Given the description of an element on the screen output the (x, y) to click on. 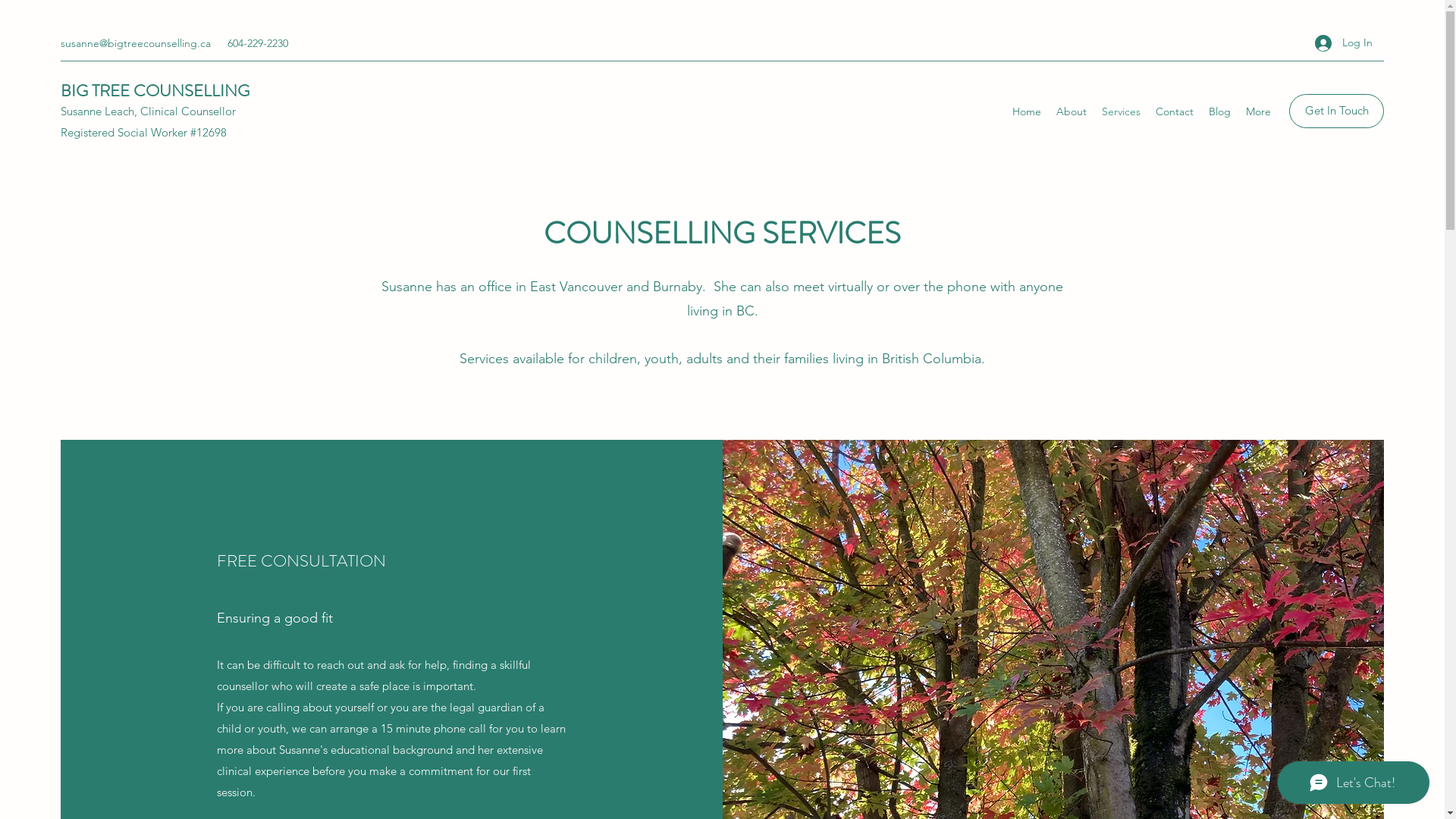
Get In Touch Element type: text (1336, 111)
susanne@bigtreecounselling.ca Element type: text (135, 43)
Blog Element type: text (1219, 111)
Log In Element type: text (1343, 42)
Home Element type: text (1026, 111)
About Element type: text (1071, 111)
Services Element type: text (1121, 111)
Contact Element type: text (1174, 111)
BIG TREE COUNSELLING Element type: text (154, 90)
